Given the description of an element on the screen output the (x, y) to click on. 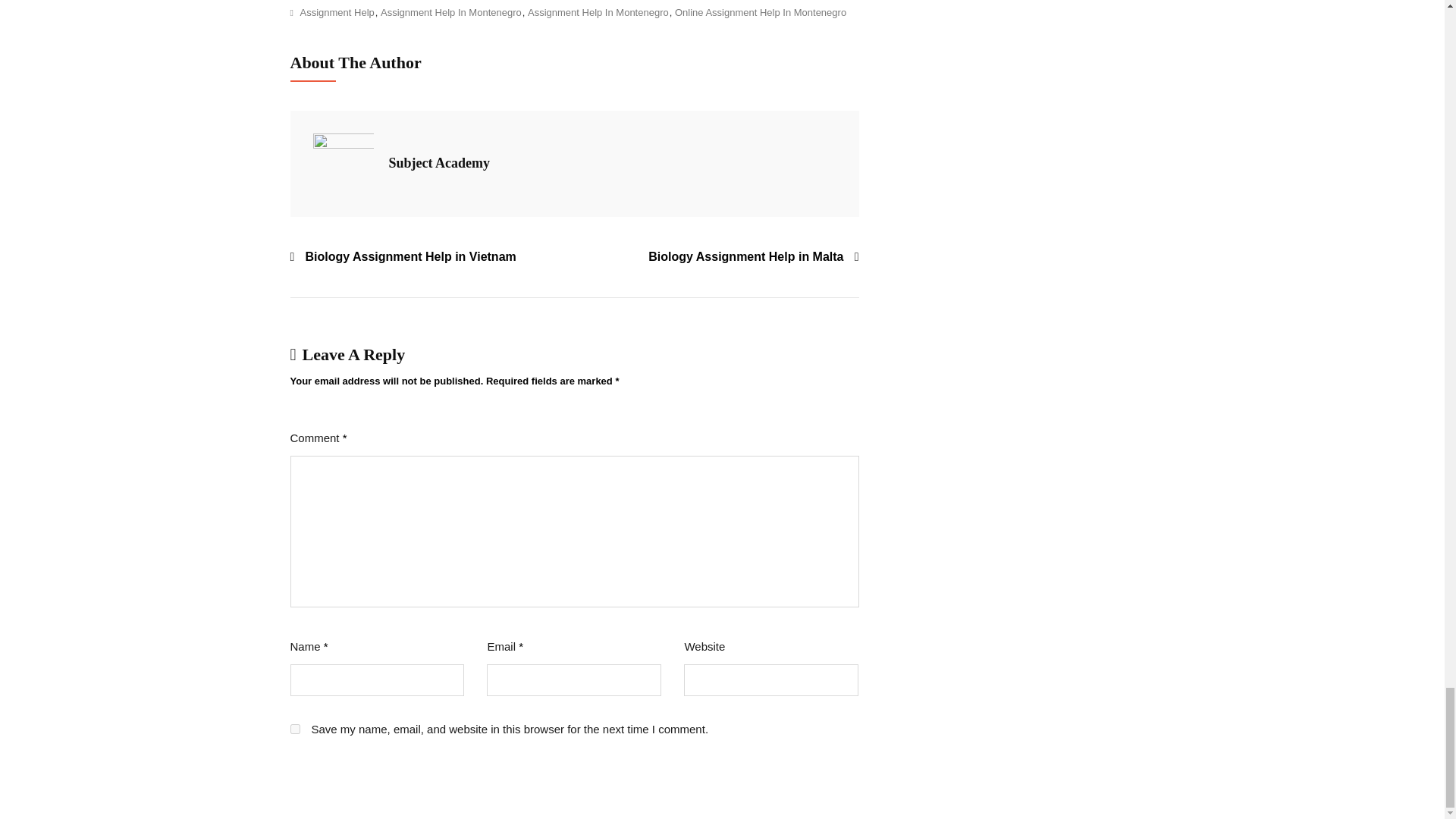
yes (294, 728)
